Given the description of an element on the screen output the (x, y) to click on. 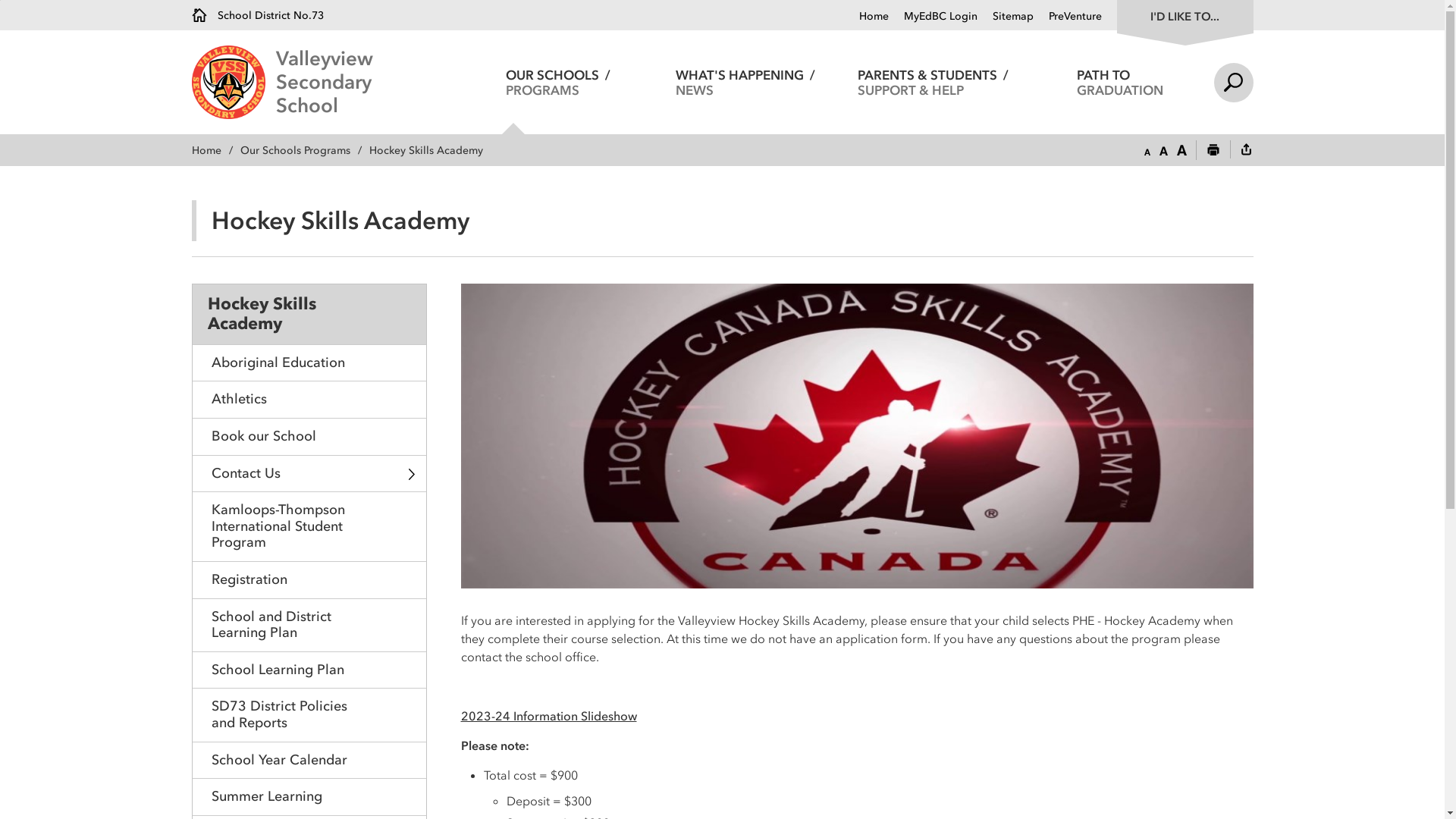
Book our School Element type: text (309, 436)
SD73 District Policies and Reports Element type: text (309, 713)
MyEdBC Login Element type: text (932, 15)
Search Element type: text (1232, 81)
Decrease text size Element type: hover (1146, 150)
Home Element type: text (873, 15)
Click to return to the homepage Element type: hover (233, 82)
Hockey Skills Academy Element type: text (309, 314)
WHAT'S HAPPENING
NEWS Element type: text (745, 82)
Skip to Content Element type: text (0, 0)
School Learning Plan Element type: text (309, 669)
Contact Us Element type: text (309, 473)
PATH TO
GRADUATION Element type: text (1120, 82)
Valleyview Secondary School Element type: hover (857, 435)
Athletics Element type: text (309, 398)
School District No.73 Element type: text (257, 15)
Home Element type: text (215, 150)
Summer Learning Element type: text (309, 796)
Default text size Element type: hover (1162, 150)
Aboriginal Education Element type: text (309, 362)
2023-24 Information Slideshow Element type: text (549, 715)
Sitemap Element type: text (1004, 15)
Increase text size Element type: hover (1181, 150)
Kamloops-Thompson International Student Program Element type: text (309, 526)
Our Schools Programs Element type: text (303, 150)
School and District Learning Plan Element type: text (309, 624)
PreVenture Element type: text (1066, 15)
OUR SCHOOLS
PROGRAMS Element type: text (557, 82)
Valleyview Secondary
School Element type: text (370, 82)
I'D LIKE TO... Element type: text (1184, 15)
Print This Page Element type: hover (1212, 150)
  Element type: text (1245, 150)
School Year Calendar Element type: text (309, 759)
Registration Element type: text (309, 579)
PARENTS & STUDENTS
SUPPORT & HELP Element type: text (932, 82)
